Given the description of an element on the screen output the (x, y) to click on. 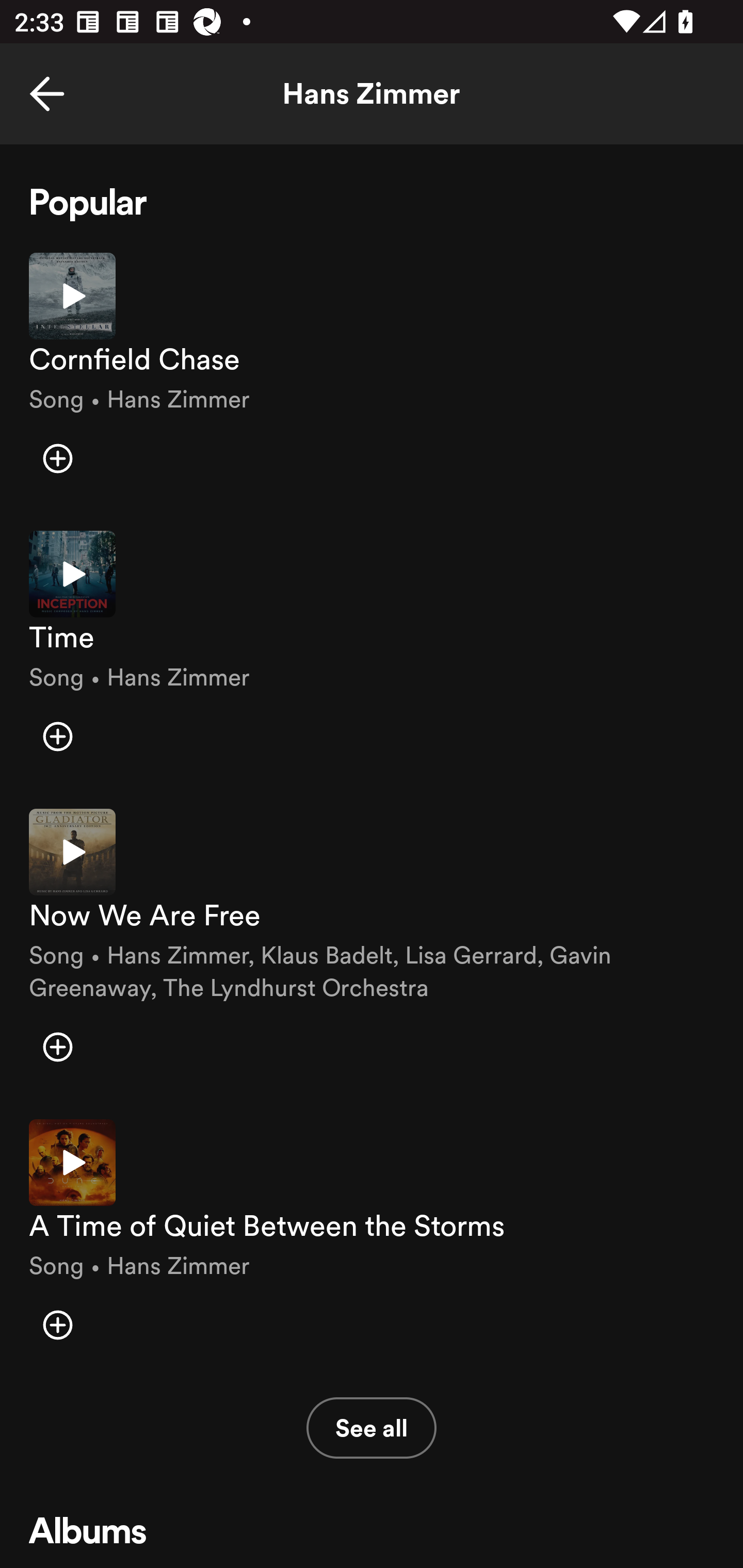
Back (46, 93)
Play preview (71, 295)
Add item (57, 458)
Play preview Time Song • Hans Zimmer Add item (371, 654)
Play preview (71, 573)
Add item (57, 736)
Play preview (71, 852)
Add item (57, 1046)
Play preview (71, 1162)
Add item (57, 1324)
See all (371, 1427)
